Given the description of an element on the screen output the (x, y) to click on. 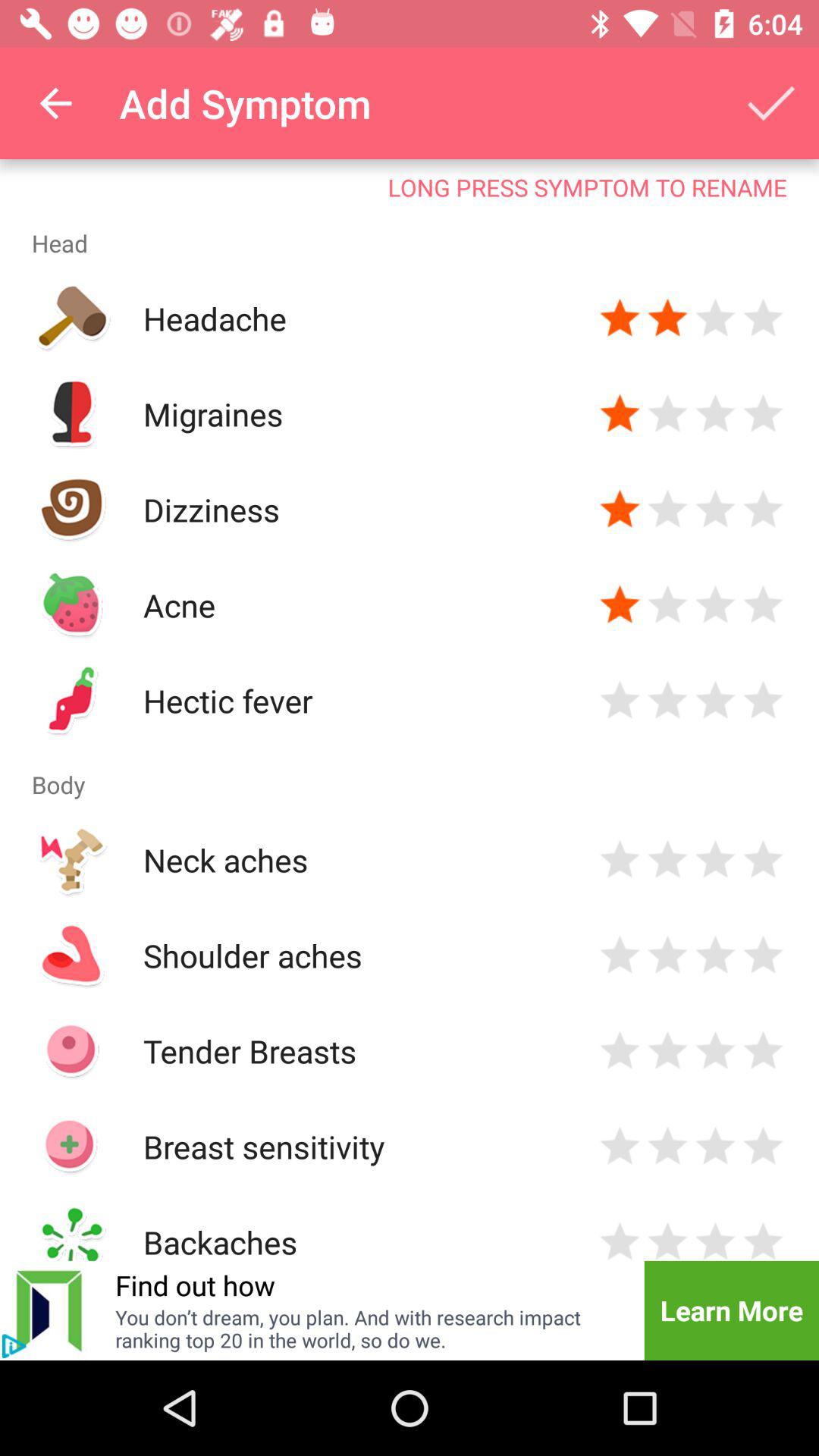
rate 2 (667, 509)
